Given the description of an element on the screen output the (x, y) to click on. 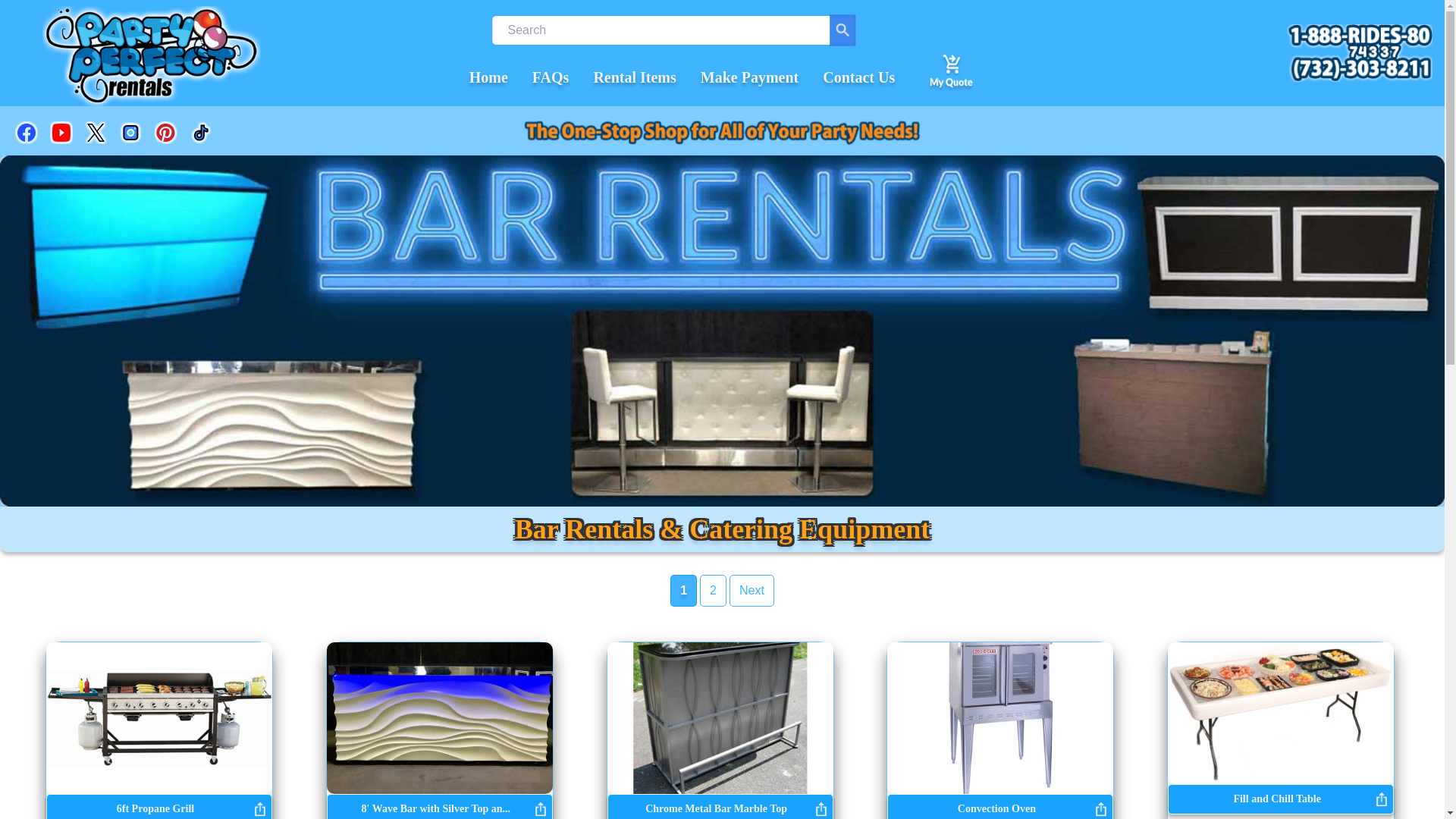
Rental Items (633, 76)
Home (488, 76)
Make Payment (748, 76)
Contact Us (858, 76)
FAQs (550, 76)
